Given the description of an element on the screen output the (x, y) to click on. 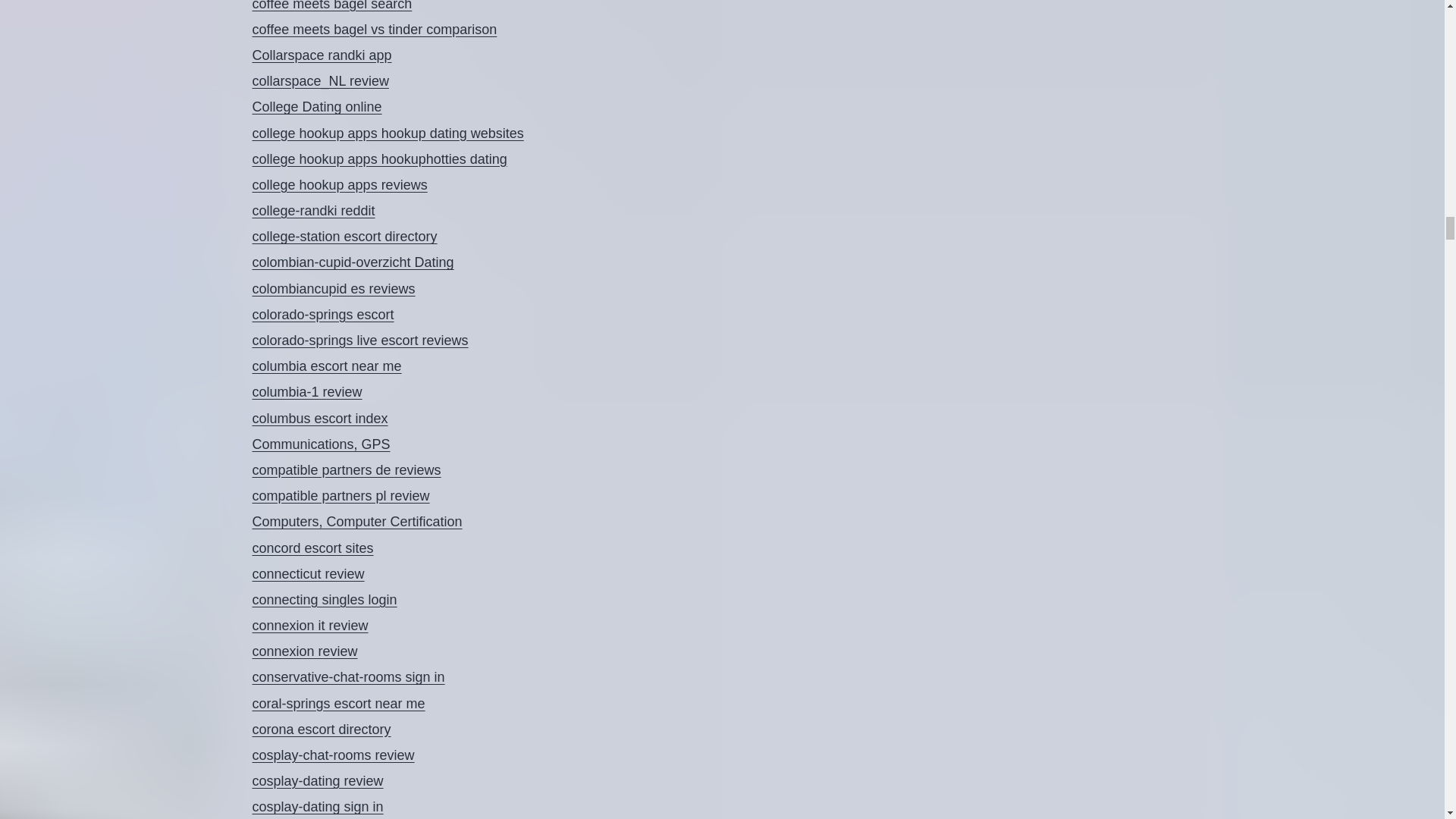
Communications, GPS (320, 444)
Computers, Computer Certification (356, 521)
